Given the description of an element on the screen output the (x, y) to click on. 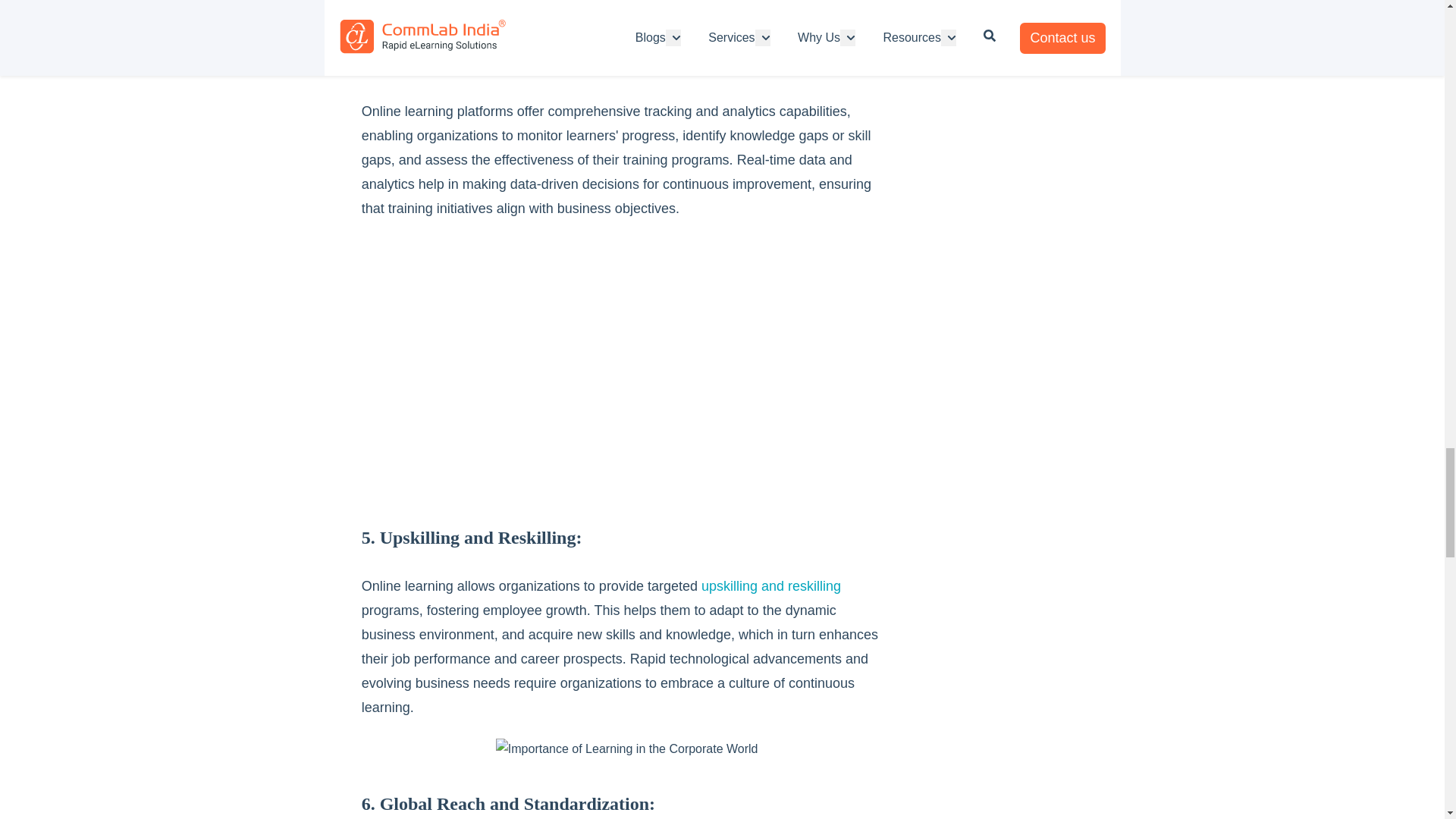
Benefits of Upskilling and Reskilling in Corporate Training (771, 585)
Learning Analytics Implementation (626, 365)
Importance of Learning in the Corporate World (627, 749)
